Given the description of an element on the screen output the (x, y) to click on. 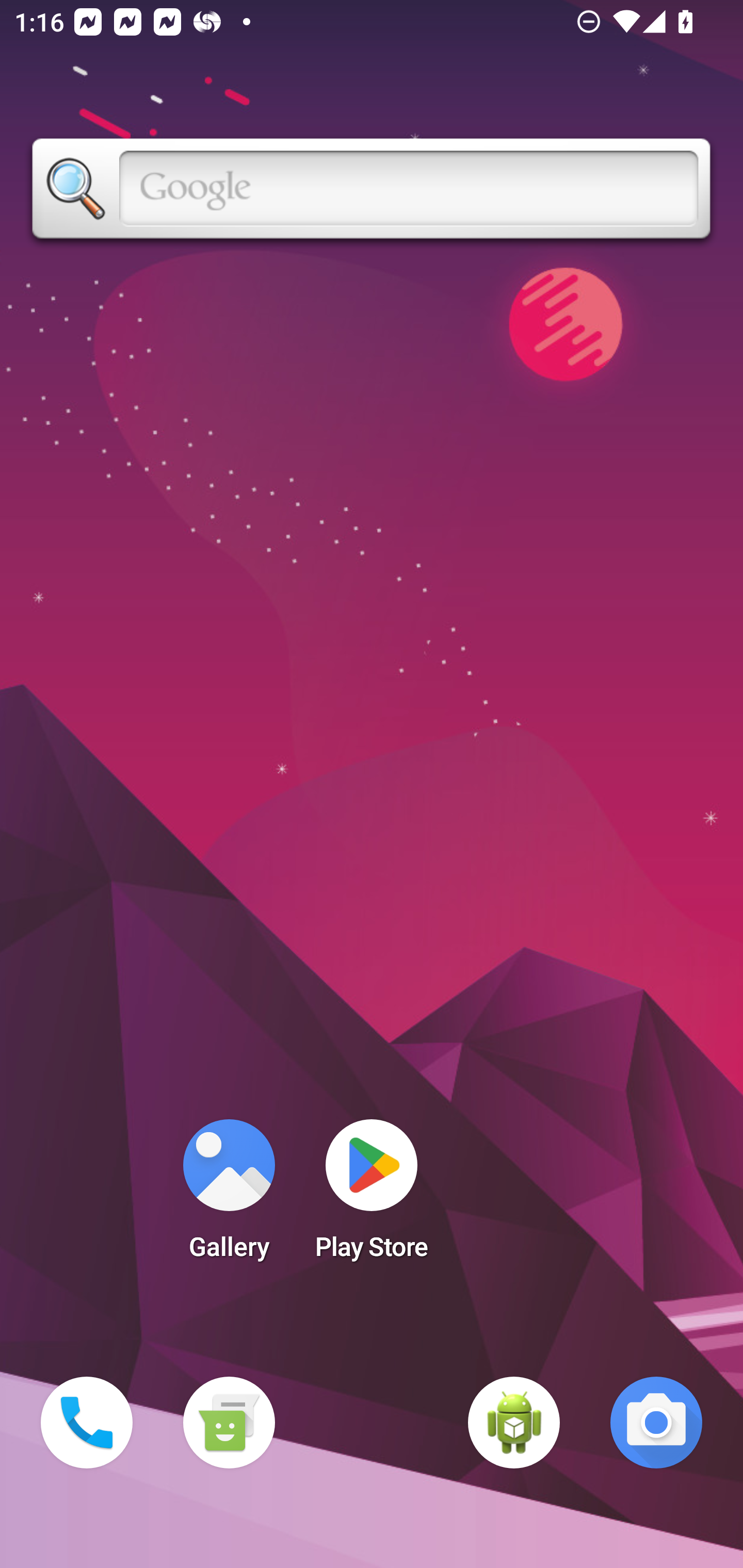
Gallery (228, 1195)
Play Store (371, 1195)
Phone (86, 1422)
Messaging (228, 1422)
WebView Browser Tester (513, 1422)
Camera (656, 1422)
